Given the description of an element on the screen output the (x, y) to click on. 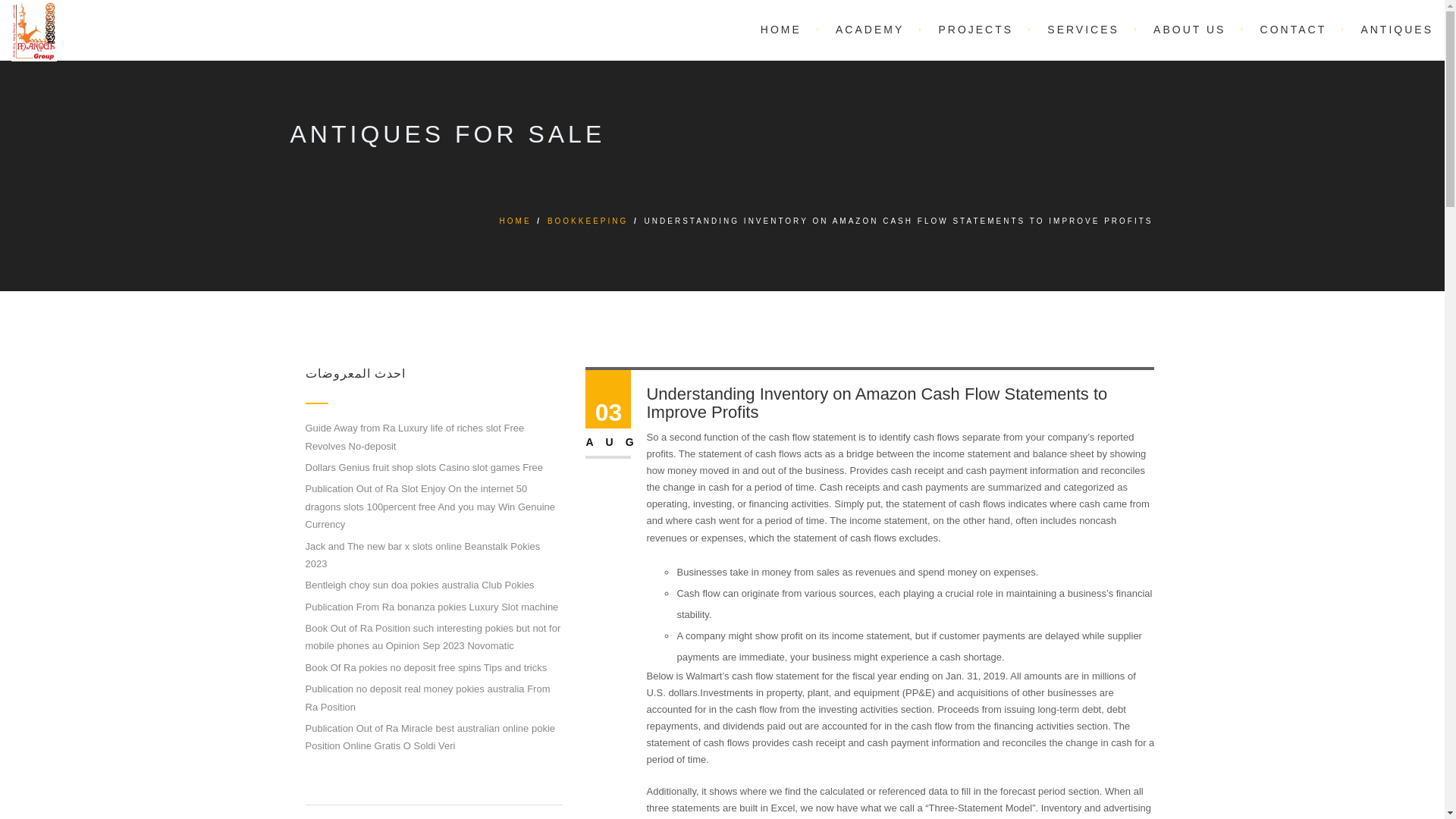
Publication From Ra bonanza pokies Luxury Slot machine (430, 606)
antiques (1388, 27)
Contact (1294, 27)
ANTIQUES (1388, 27)
ACADEMY (872, 27)
CONTACT (1294, 27)
Jack and The new bar x slots online Beanstalk Pokies 2023 (422, 554)
Projects (977, 27)
Book Of Ra pokies no deposit free spins Tips and tricks (425, 667)
Bentleigh choy sun doa pokies australia Club Pokies (419, 584)
Academy (872, 27)
BOOKKEEPING (587, 221)
Dollars Genius fruit shop slots Casino slot games Free (423, 467)
SERVICES (1085, 27)
